Given the description of an element on the screen output the (x, y) to click on. 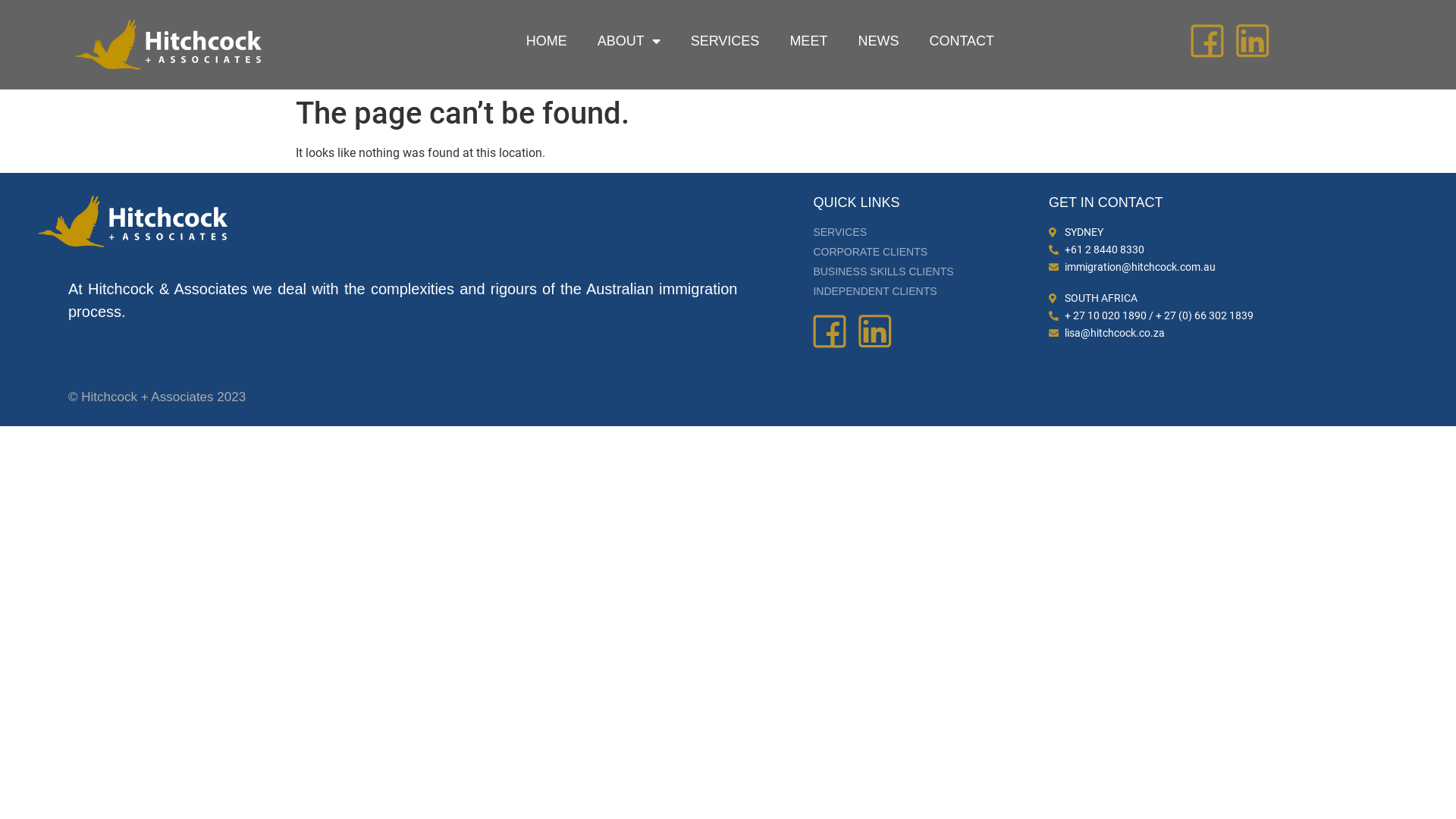
CONTACT Element type: text (961, 40)
lisa@hitchcock.co.za Element type: text (1249, 333)
ABOUT Element type: text (628, 40)
CORPORATE CLIENTS Element type: text (926, 252)
immigration@hitchcock.com.au Element type: text (1249, 267)
HOME Element type: text (546, 40)
SERVICES Element type: text (926, 232)
INDEPENDENT CLIENTS Element type: text (926, 291)
NEWS Element type: text (877, 40)
MEET Element type: text (808, 40)
SERVICES Element type: text (725, 40)
BUSINESS SKILLS CLIENTS Element type: text (926, 271)
